Given the description of an element on the screen output the (x, y) to click on. 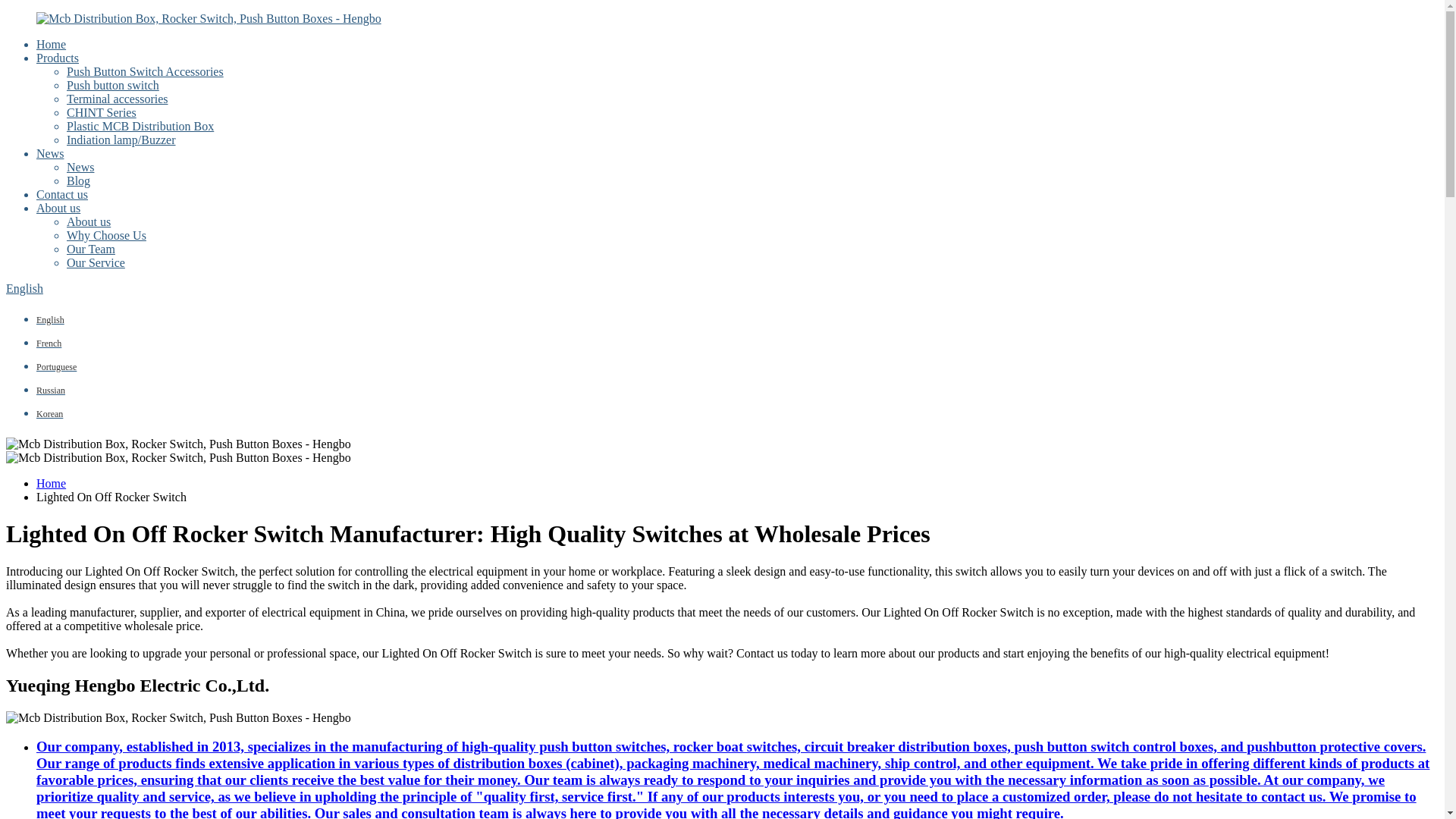
Blog (78, 180)
CHINT Series (101, 112)
Russian (50, 389)
French (48, 341)
Products (57, 57)
French (48, 341)
Plastic MCB Distribution Box (140, 125)
English (50, 318)
English (24, 287)
Home (50, 482)
